Given the description of an element on the screen output the (x, y) to click on. 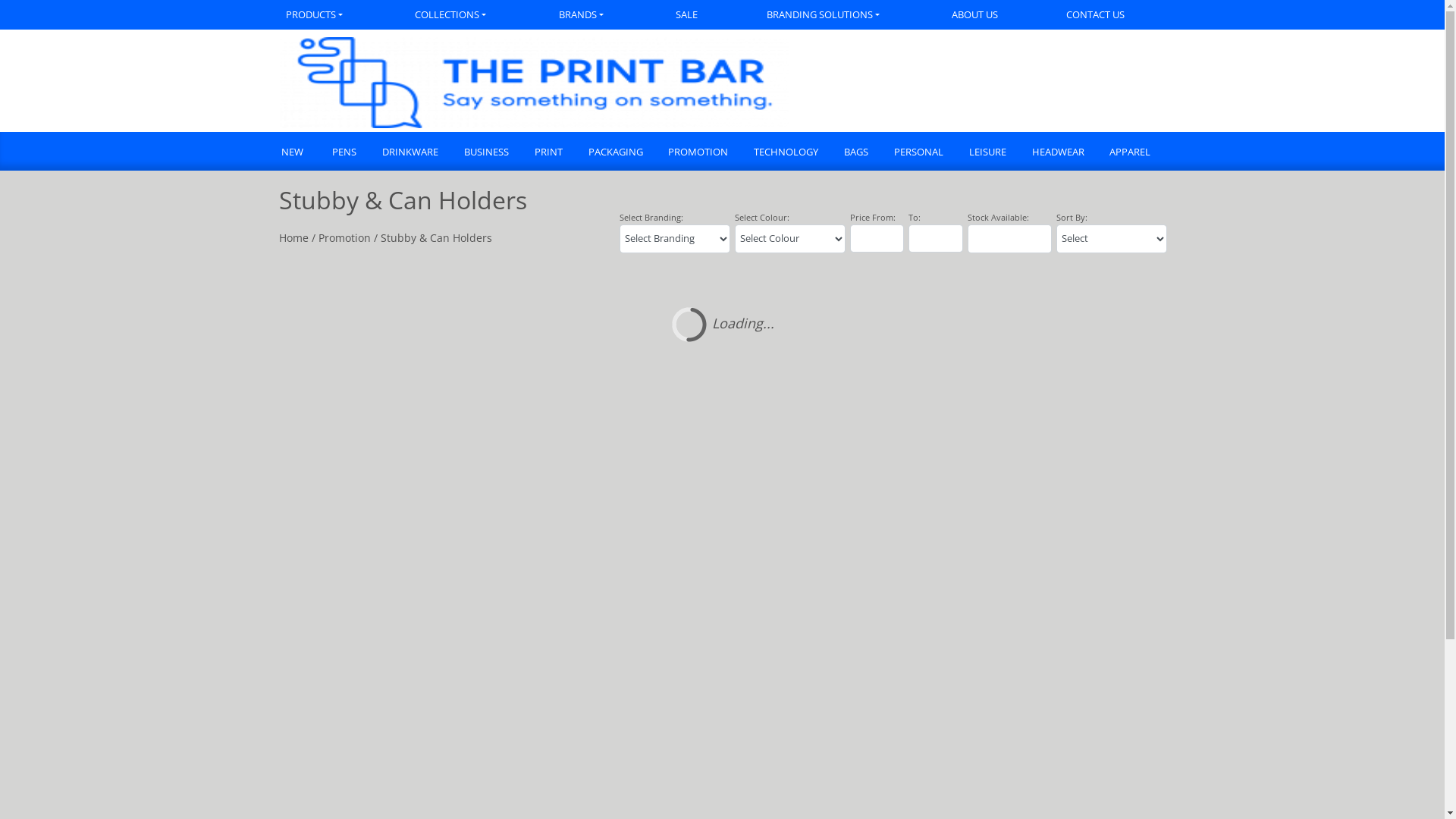
PENS Element type: text (344, 152)
PRINT Element type: text (547, 152)
COLLECTIONS Element type: text (452, 14)
PERSONAL Element type: text (917, 152)
BRANDS Element type: text (582, 14)
Promotion Element type: text (344, 237)
NEW Element type: text (299, 152)
CONTACT US Element type: text (1095, 14)
LEISURE Element type: text (986, 152)
BRANDING SOLUTIONS Element type: text (824, 14)
BUSINESS Element type: text (485, 152)
ABOUT US Element type: text (975, 14)
APPAREL Element type: text (1129, 152)
PACKAGING Element type: text (614, 152)
PROMOTION Element type: text (697, 152)
PRODUCTS Element type: text (330, 14)
Stubby & Can Holders Element type: text (436, 237)
BAGS Element type: text (855, 152)
SALE Element type: text (687, 14)
DRINKWARE Element type: text (409, 152)
HEADWEAR Element type: text (1057, 152)
Home Element type: text (293, 237)
TECHNOLOGY Element type: text (785, 152)
